Given the description of an element on the screen output the (x, y) to click on. 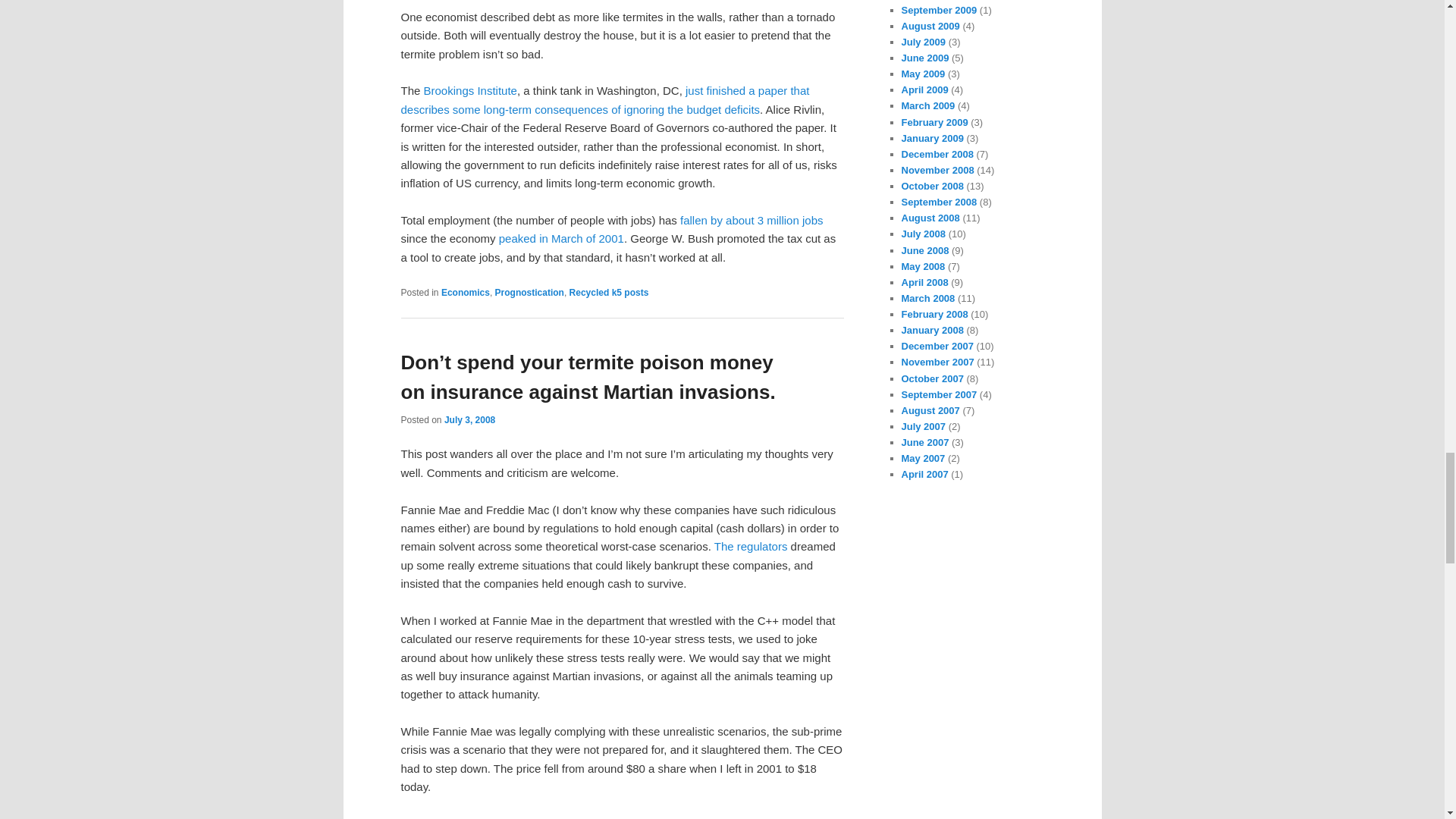
Brookings Institute (469, 90)
Prognostication (529, 291)
fallen by about 3 million jobs (750, 219)
11:11 am (469, 419)
The regulators (750, 545)
peaked in March of 2001 (561, 237)
Recycled k5 posts (609, 291)
July 3, 2008 (469, 419)
Economics (465, 291)
